Given the description of an element on the screen output the (x, y) to click on. 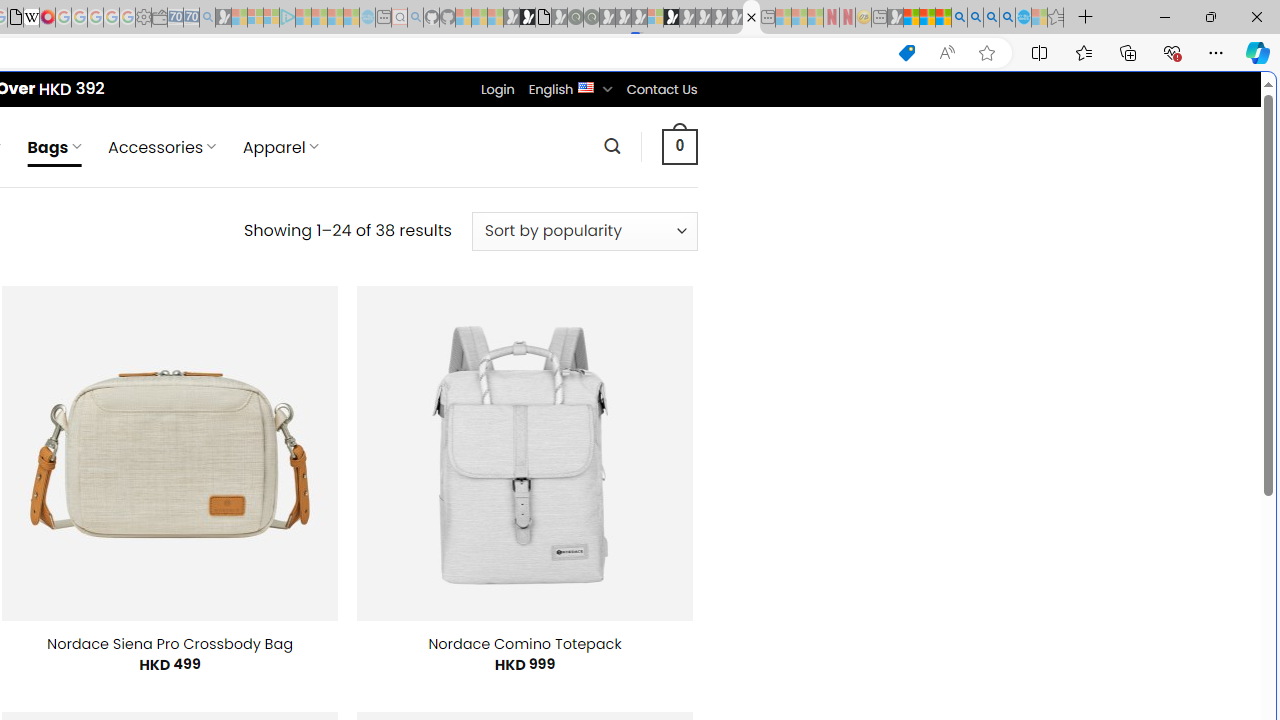
Contact Us (661, 89)
Close split screen (844, 102)
Bing AI - Search (959, 17)
